Given the description of an element on the screen output the (x, y) to click on. 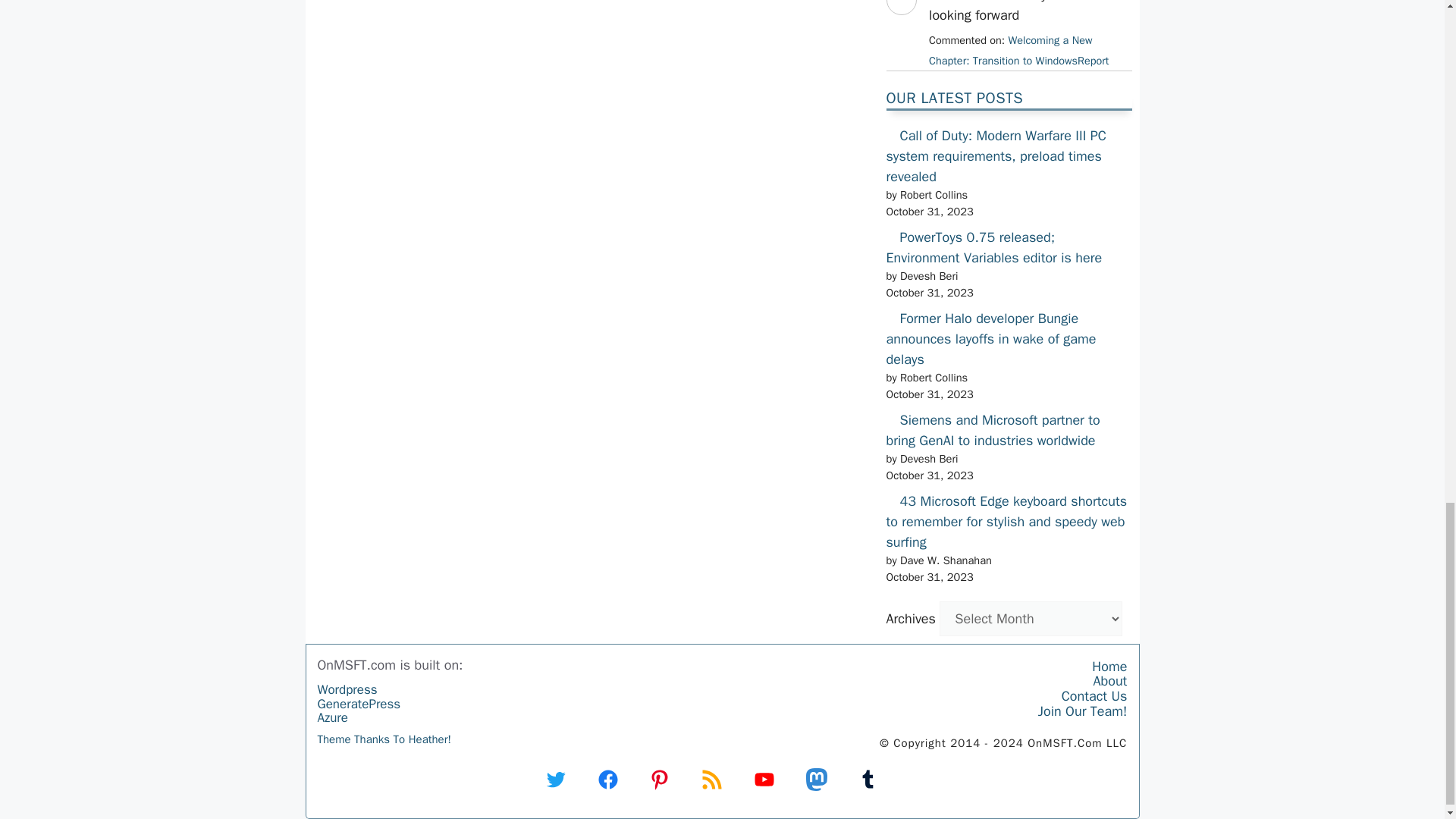
May 20, 2024 (1018, 50)
sathvik (900, 28)
